Given the description of an element on the screen output the (x, y) to click on. 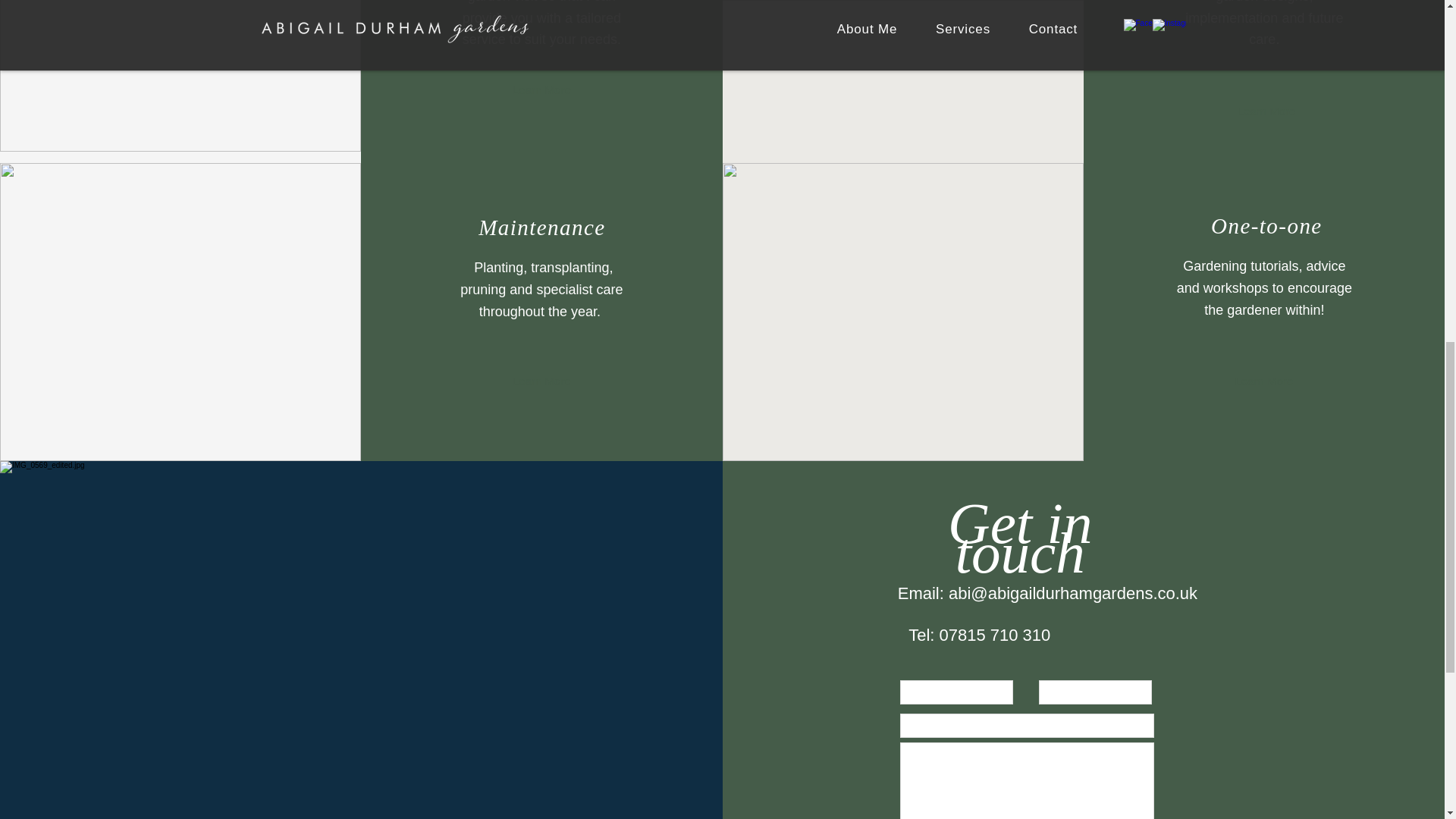
Tel: 07815 710 310 (979, 634)
